Given the description of an element on the screen output the (x, y) to click on. 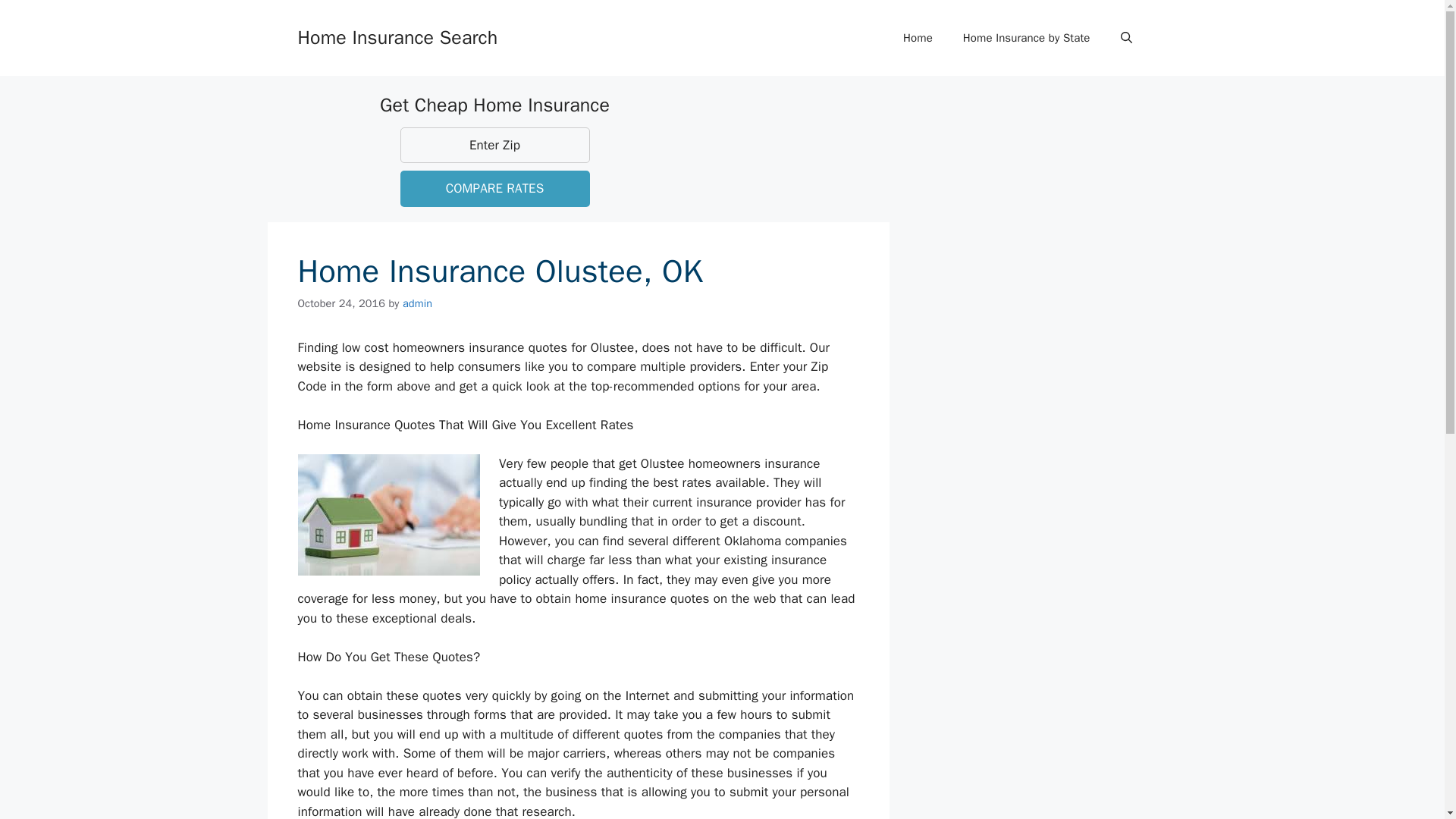
COMPARE RATES (494, 188)
Home (917, 37)
admin (417, 303)
Enter Zip (494, 145)
Home Insurance by State (1026, 37)
View all posts by admin (417, 303)
Home Insurance Search (397, 37)
